Given the description of an element on the screen output the (x, y) to click on. 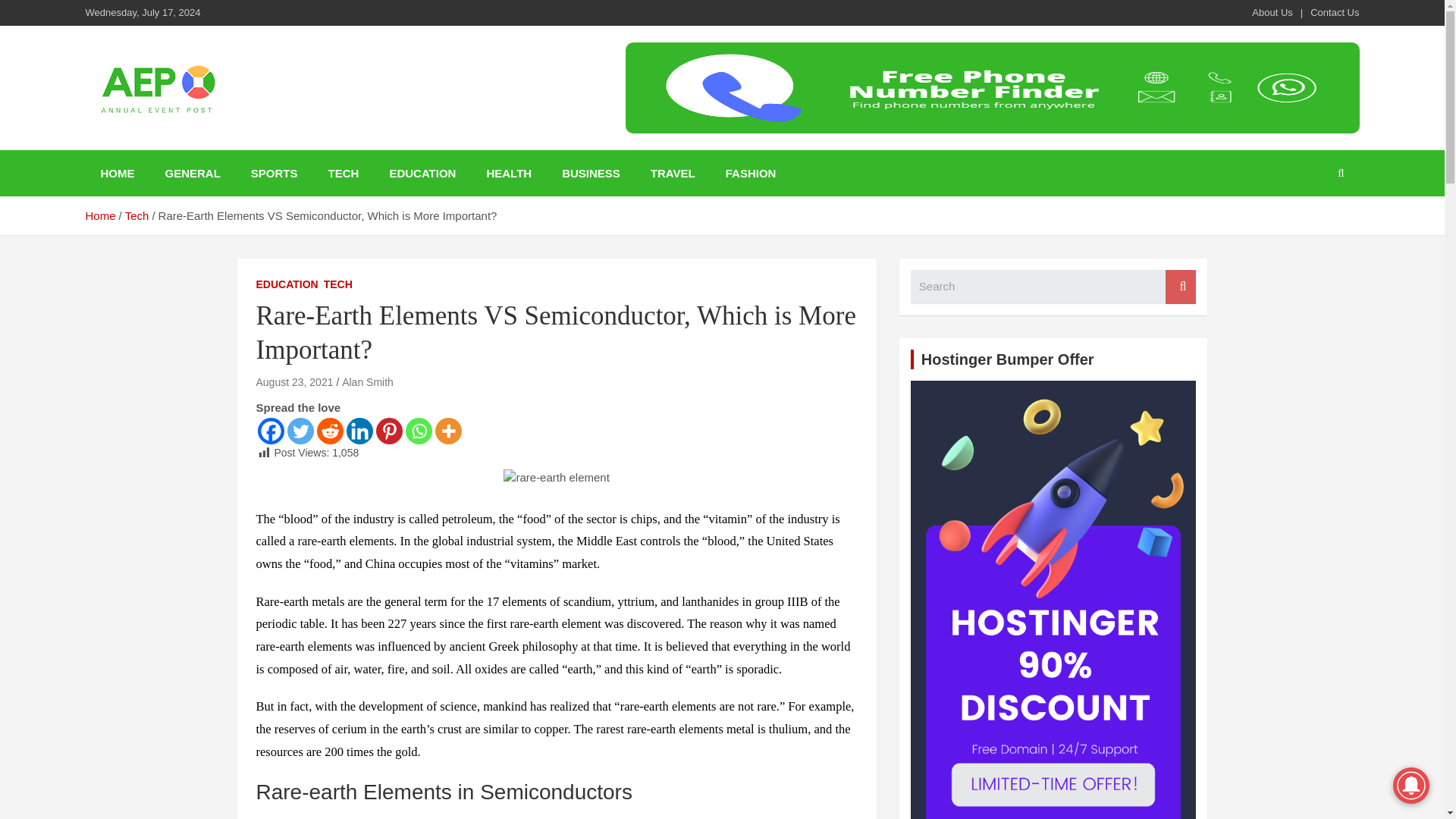
Reddit (330, 430)
Home (99, 215)
Facebook (270, 430)
August 23, 2021 (294, 381)
Whatsapp (417, 430)
SPORTS (274, 172)
Alan Smith (367, 381)
FASHION (751, 172)
Contact Us (1334, 12)
Linkedin (359, 430)
About Us (1272, 12)
TECH (337, 284)
BUSINESS (590, 172)
EDUCATION (422, 172)
